Given the description of an element on the screen output the (x, y) to click on. 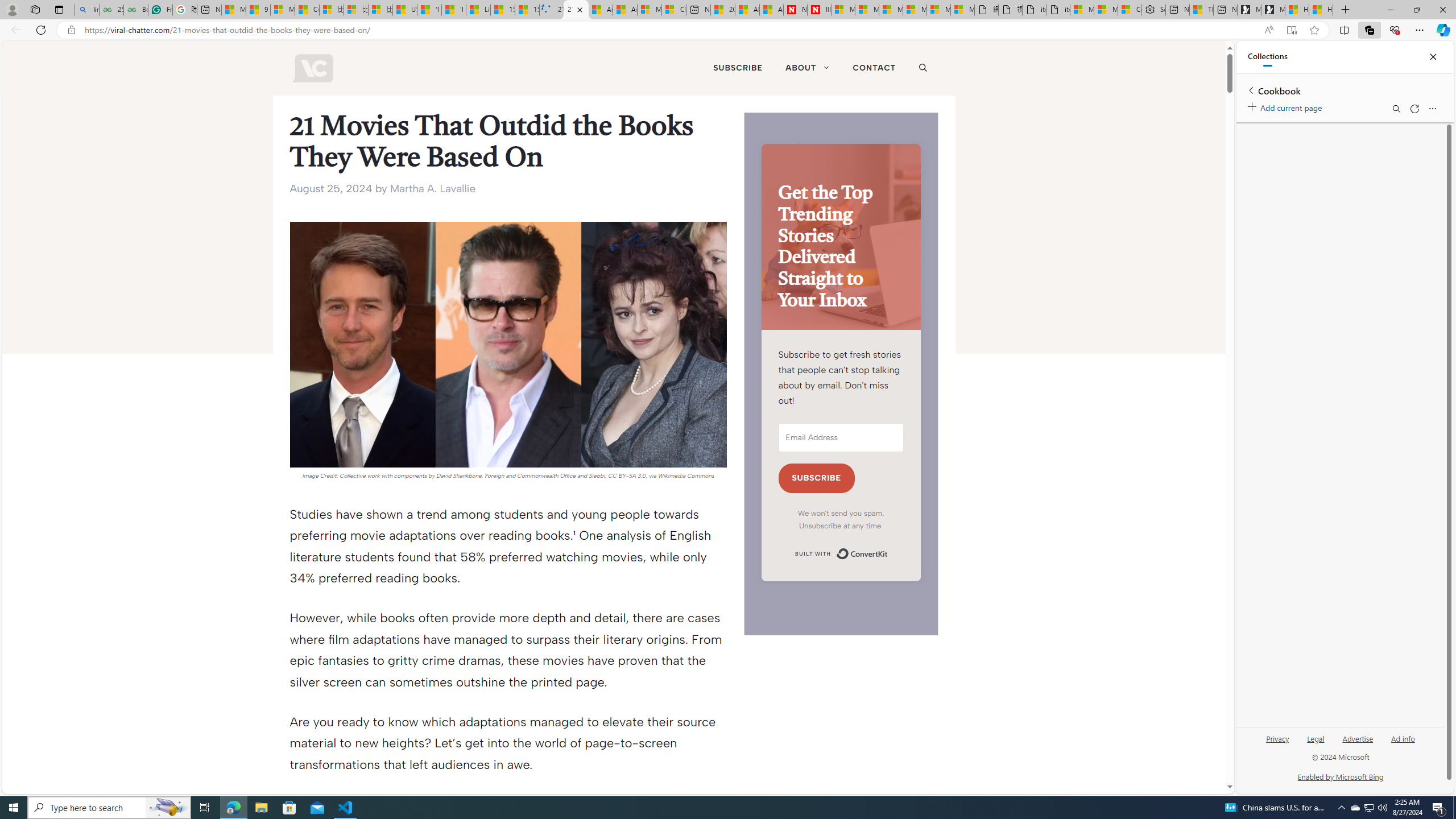
SUBSCRIBE (737, 67)
Martha A. Lavallie (433, 187)
Illness news & latest pictures from Newsweek.com (818, 9)
Viral Chatter (311, 68)
How to Use a TV as a Computer Monitor (1321, 9)
Three Ways To Stop Sweating So Much (1201, 9)
Legal (1315, 742)
